Given the description of an element on the screen output the (x, y) to click on. 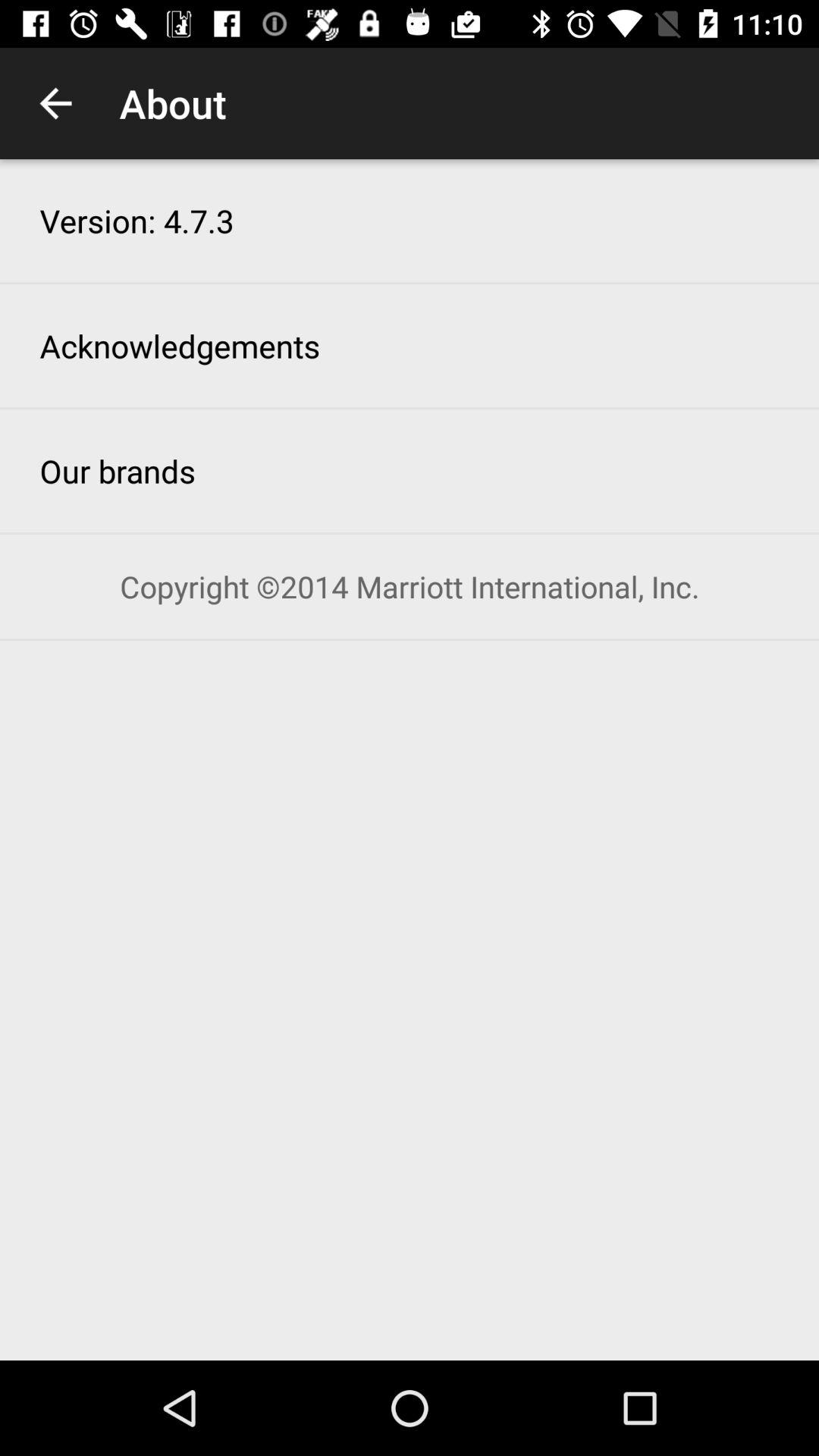
tap copyright 2014 marriott at the center (409, 586)
